Given the description of an element on the screen output the (x, y) to click on. 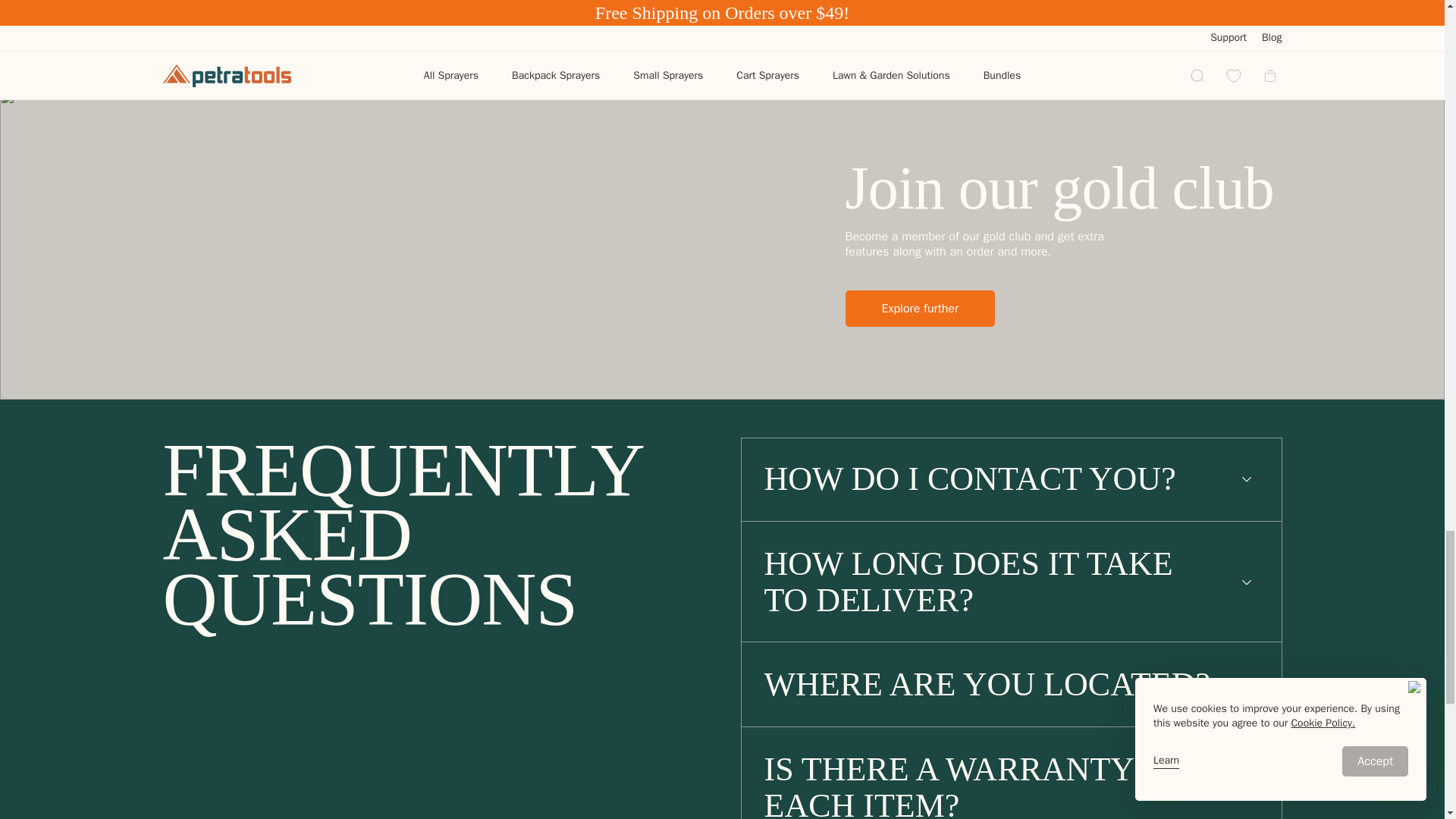
Explore further (919, 308)
